Given the description of an element on the screen output the (x, y) to click on. 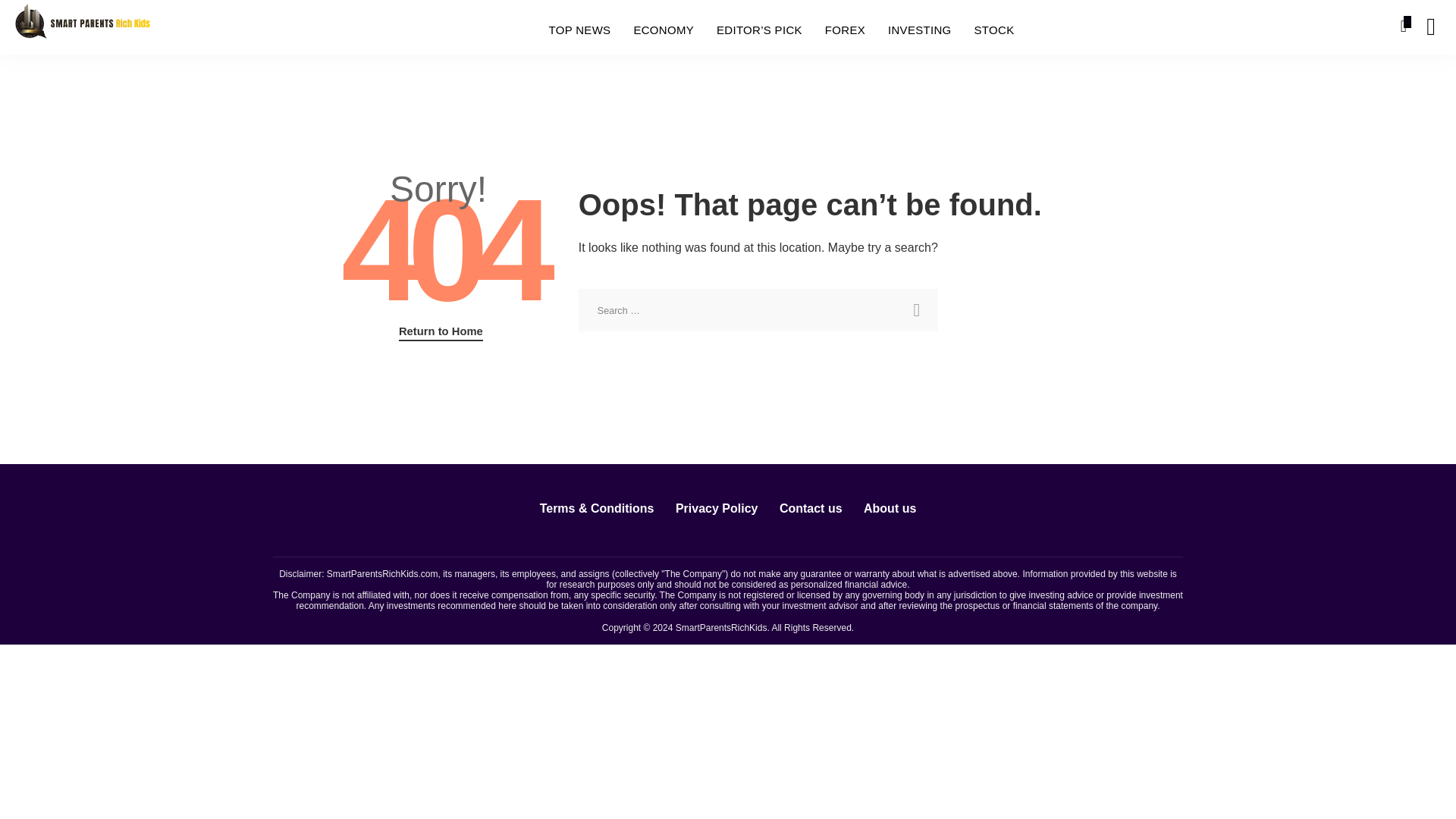
Contact us (810, 507)
Search (1419, 84)
STOCK (994, 30)
Search (916, 310)
INVESTING (919, 30)
Smart Parents Rich Kids (81, 26)
Return to Home (440, 331)
Privacy Policy (716, 507)
About us (889, 507)
Search (1146, 27)
